Given the description of an element on the screen output the (x, y) to click on. 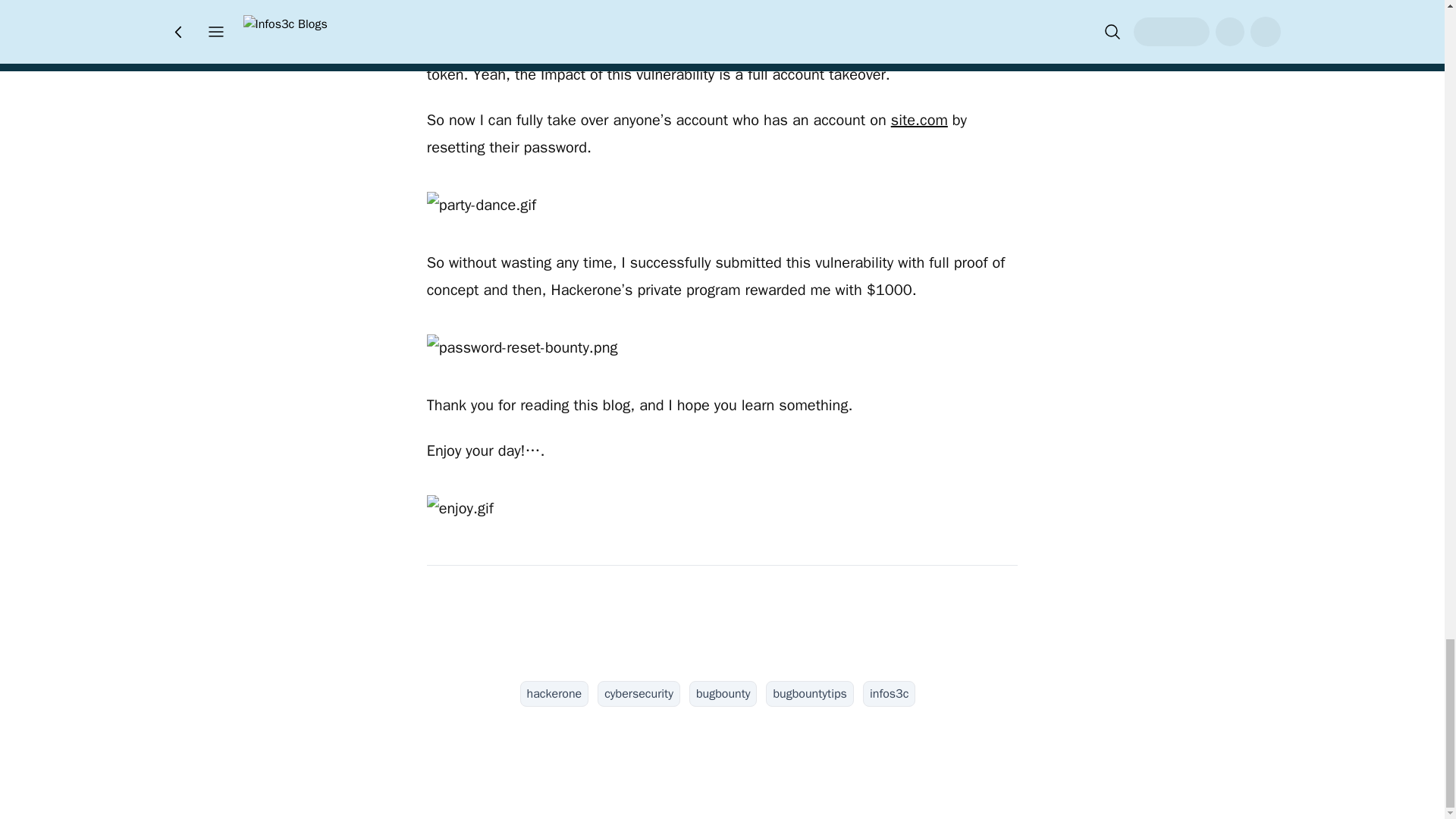
site.com (919, 119)
infos3c (889, 693)
hackerone (554, 693)
bugbountytips (809, 693)
cybersecurity (637, 693)
bugbounty (722, 693)
